Given the description of an element on the screen output the (x, y) to click on. 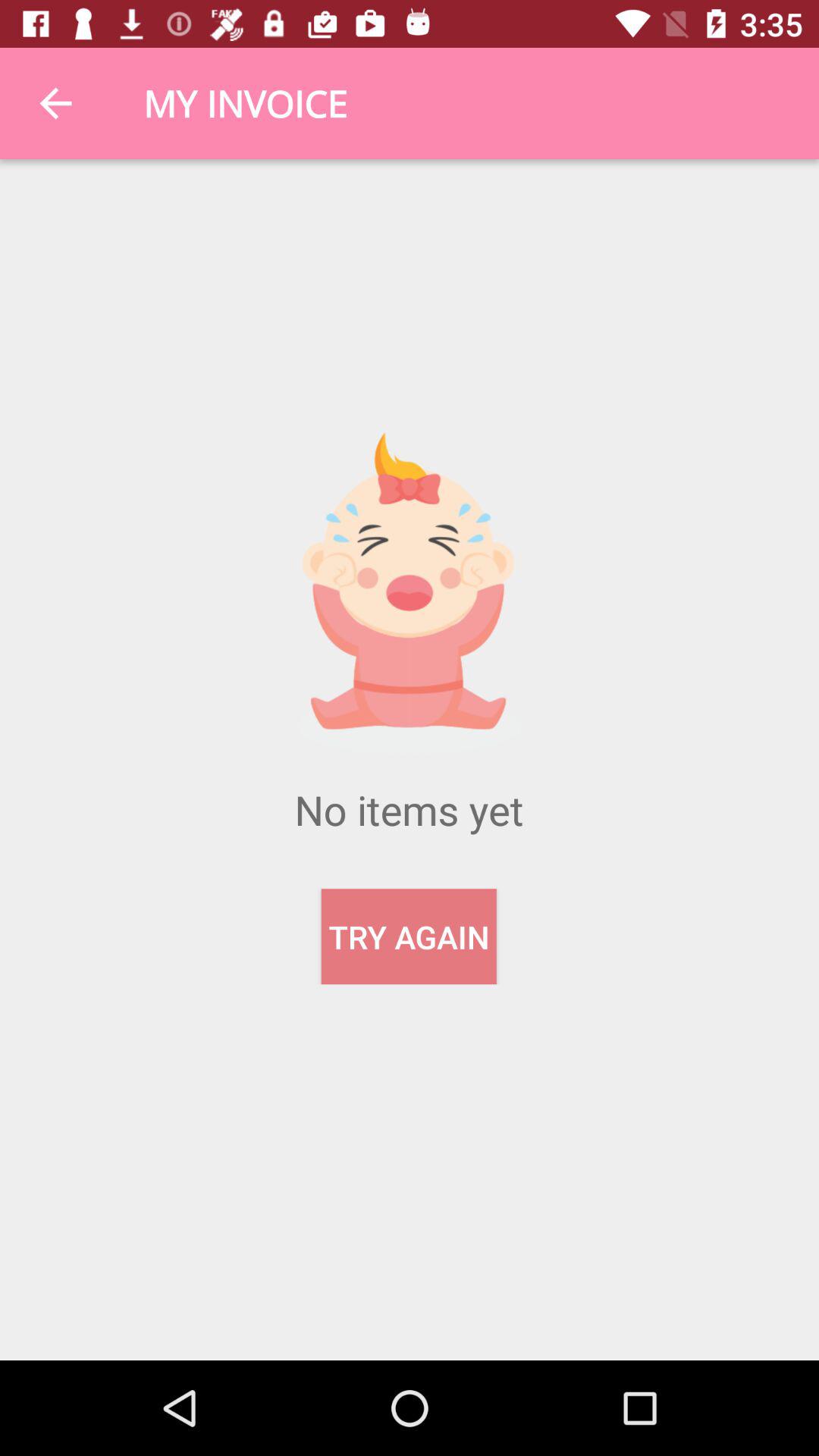
flip until the try again item (408, 936)
